Given the description of an element on the screen output the (x, y) to click on. 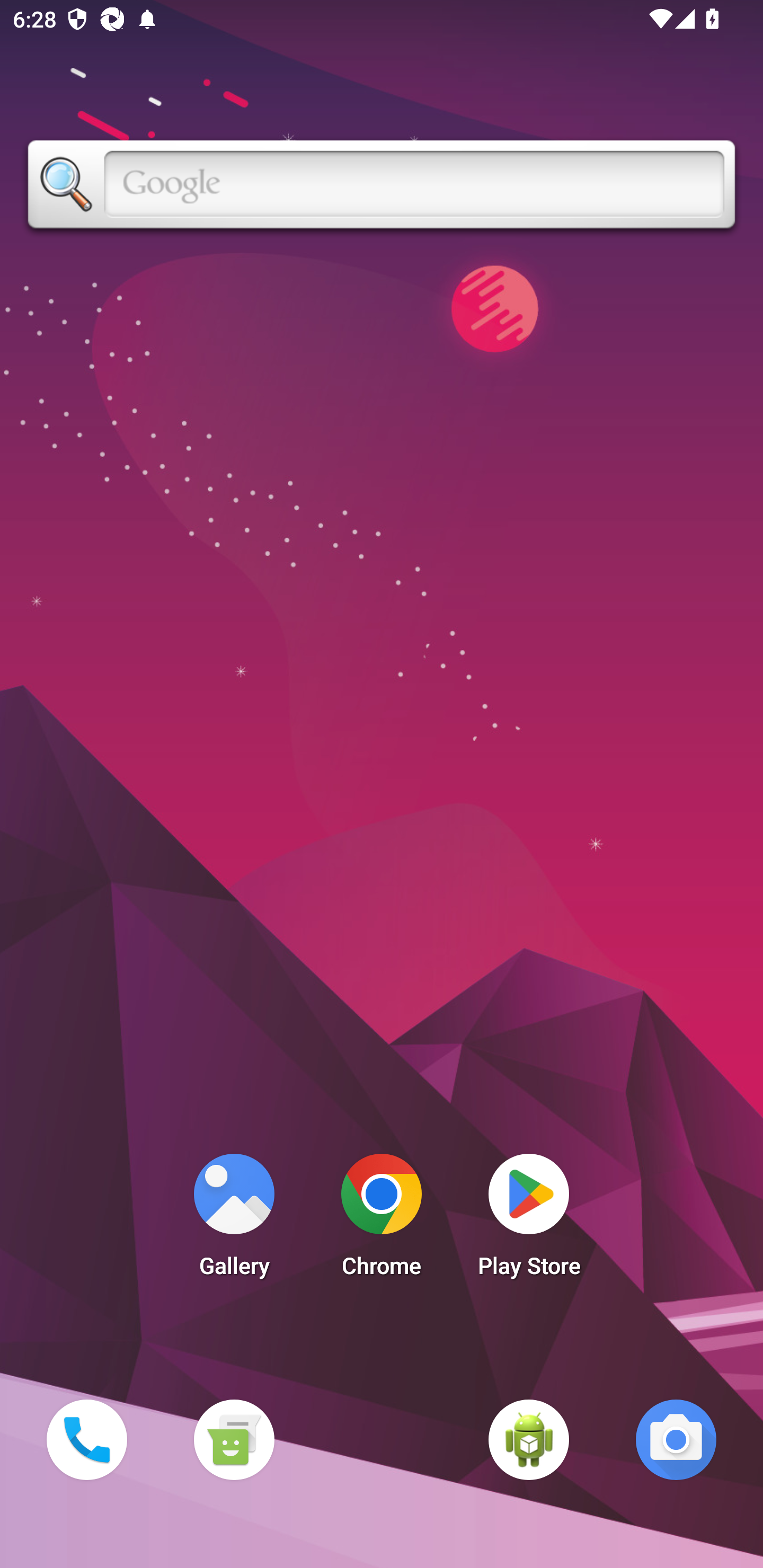
Gallery (233, 1220)
Chrome (381, 1220)
Play Store (528, 1220)
Phone (86, 1439)
Messaging (233, 1439)
WebView Browser Tester (528, 1439)
Camera (676, 1439)
